Given the description of an element on the screen output the (x, y) to click on. 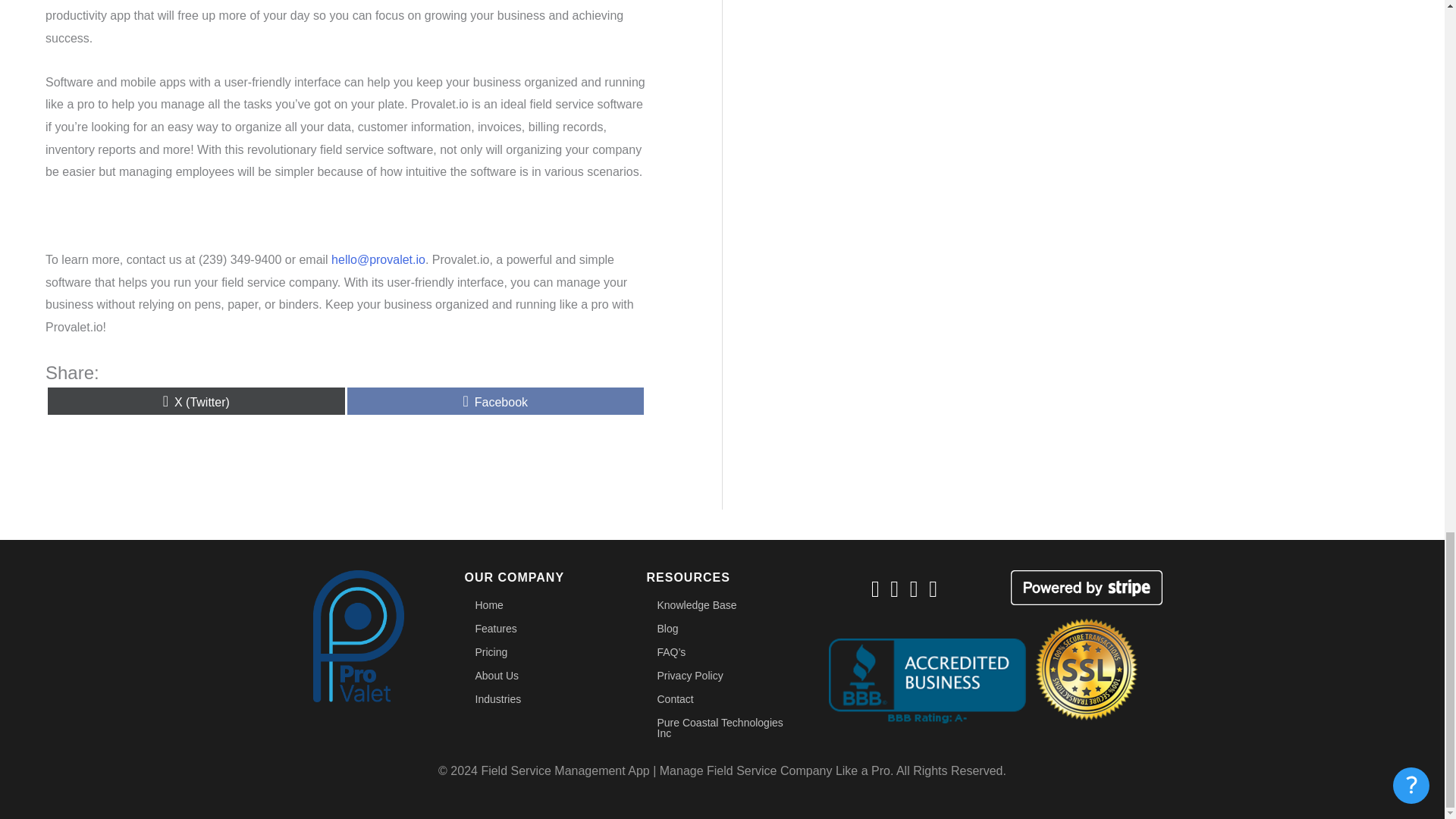
Home (539, 604)
ssl-security-seal (1085, 669)
Privacy Policy (721, 675)
Powered by Stripe - white (1085, 587)
Pure Coastal Technologies Inc (721, 727)
About Us (539, 675)
Industries (539, 698)
Contact (721, 698)
Pricing (539, 651)
Knowledge Base (721, 604)
Blog (721, 628)
Features (496, 400)
